Given the description of an element on the screen output the (x, y) to click on. 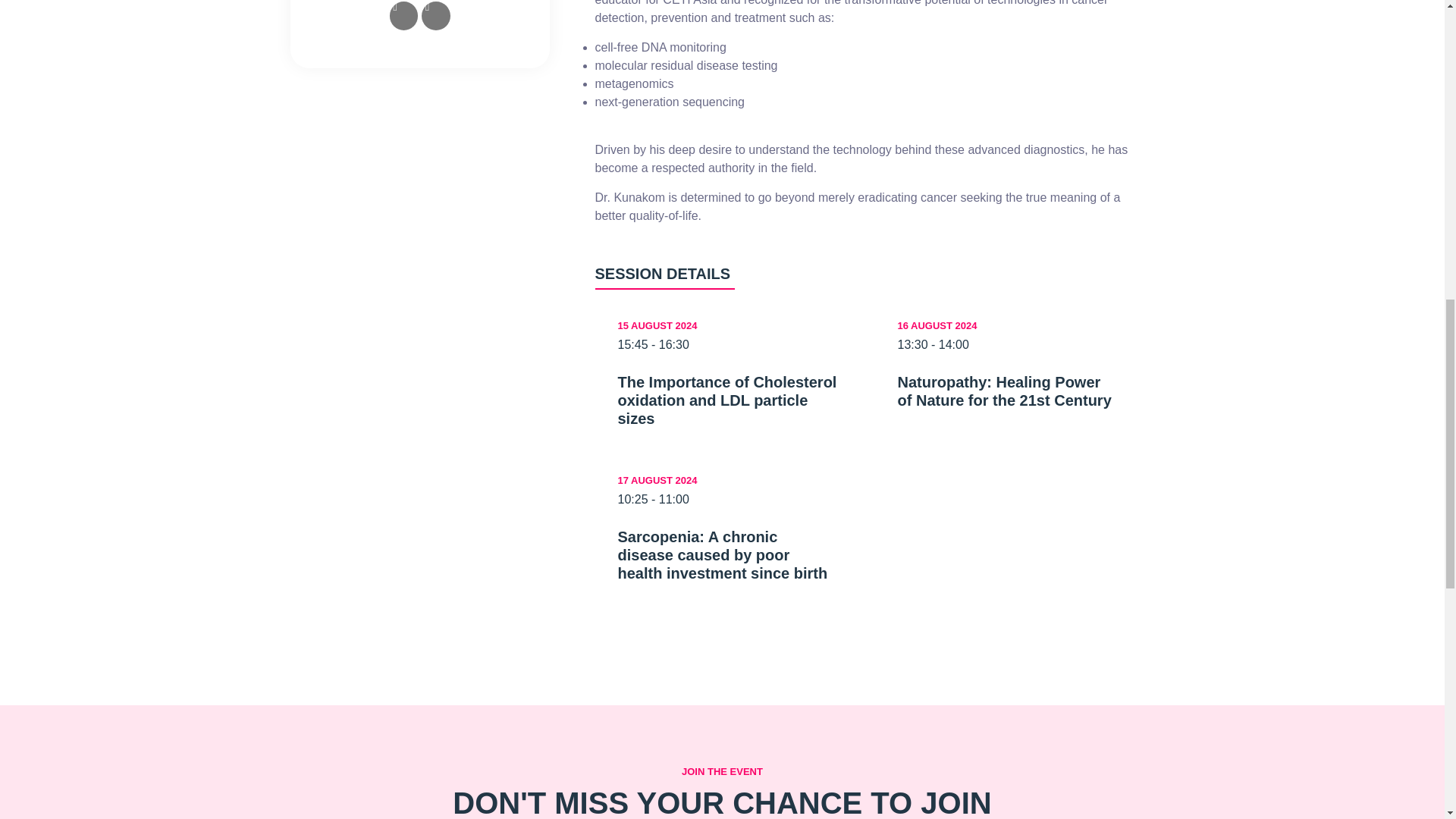
13:30 - 14:00 (1007, 344)
15:45 - 16:30 (726, 344)
Naturopathy: Healing Power of Nature for the 21st Century (1007, 391)
10:25 - 11:00 (726, 499)
